Given the description of an element on the screen output the (x, y) to click on. 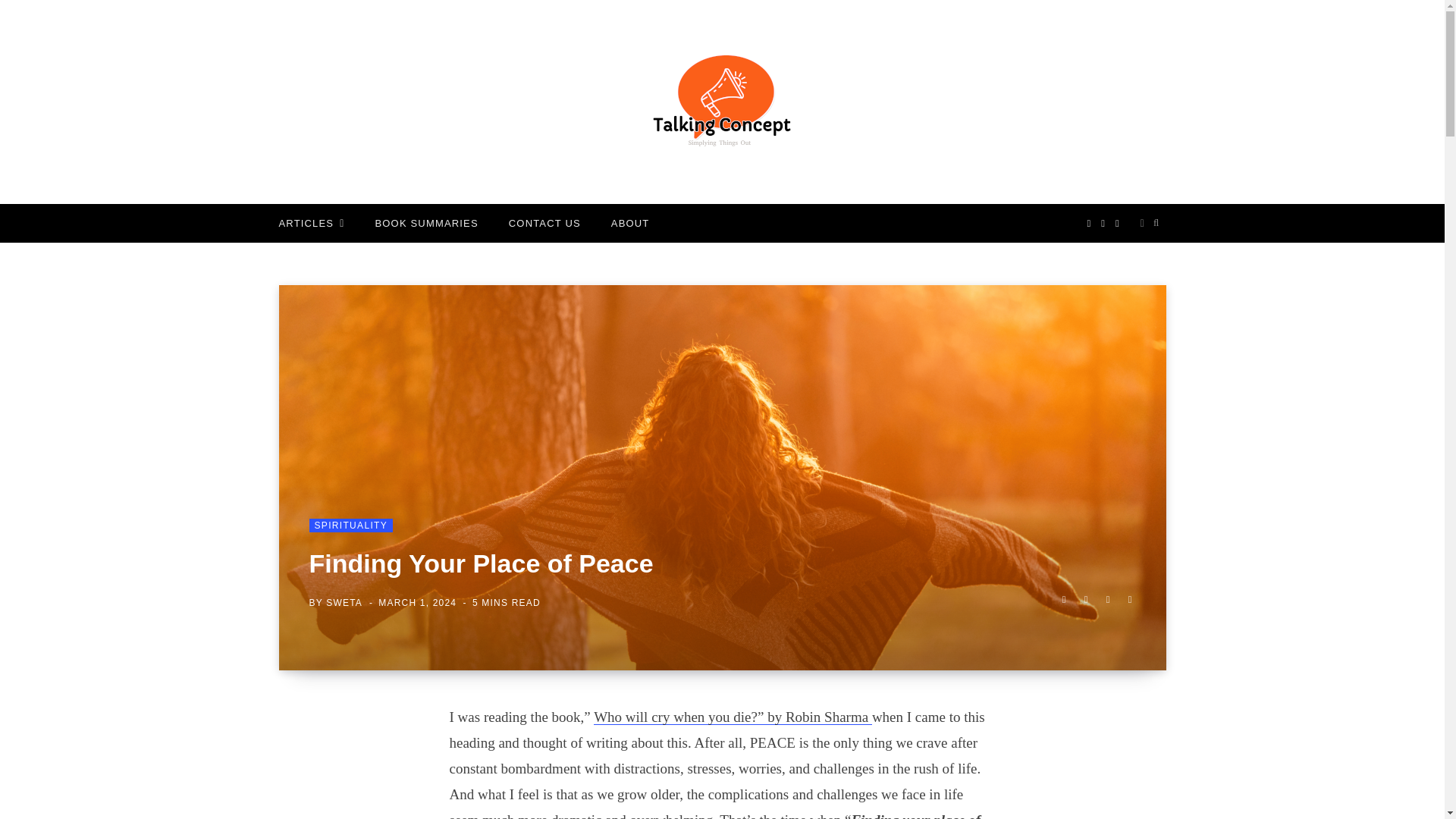
Facebook (1063, 599)
talkingconcept.com (721, 101)
CONTACT US (544, 222)
Posts by Sweta (343, 602)
SWETA (343, 602)
Pinterest (1130, 599)
ARTICLES (311, 222)
Twitter (1086, 599)
ABOUT (630, 222)
BOOK SUMMARIES (426, 222)
LinkedIn (1106, 599)
SPIRITUALITY (350, 525)
